Given the description of an element on the screen output the (x, y) to click on. 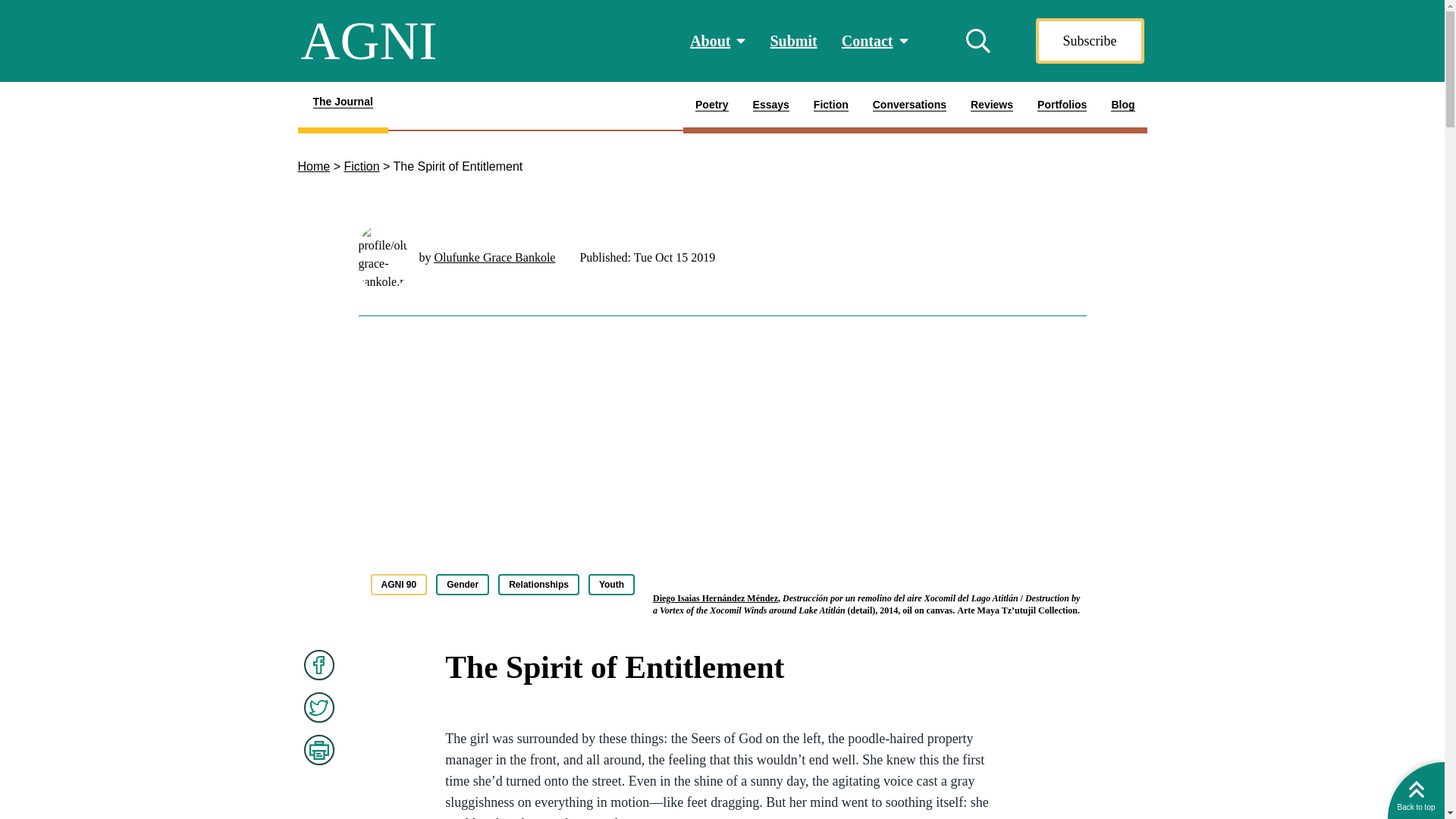
AGNI 90 (397, 584)
The Journal (342, 107)
AGNI (367, 40)
Olufunke Grace Bankole (493, 256)
Reviews (991, 107)
Poetry (711, 107)
Portfolios (1062, 107)
Home (313, 165)
Blog (1123, 107)
Fiction (831, 107)
